Given the description of an element on the screen output the (x, y) to click on. 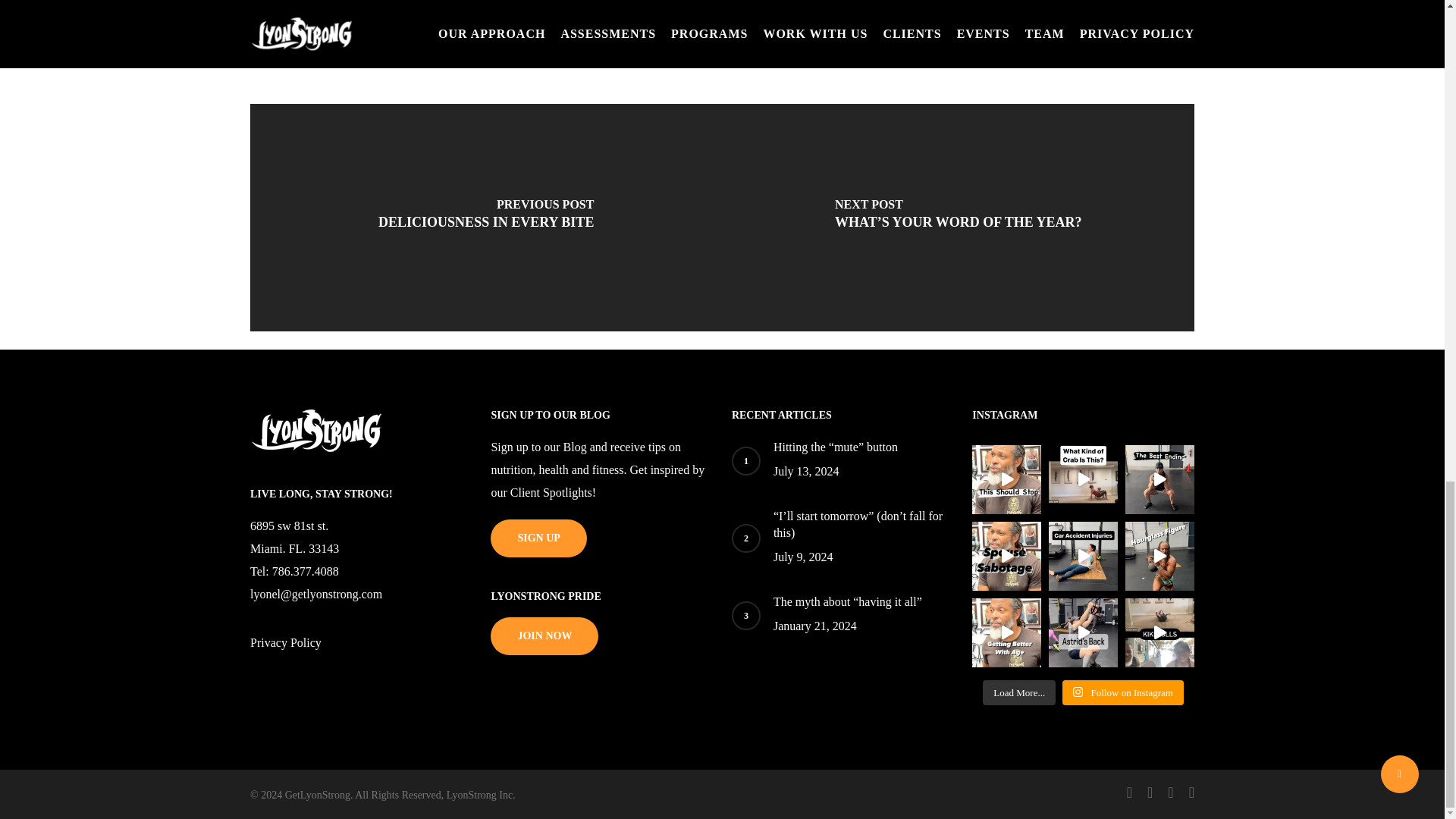
LYONEL LUMARQUE (403, 1)
